Given the description of an element on the screen output the (x, y) to click on. 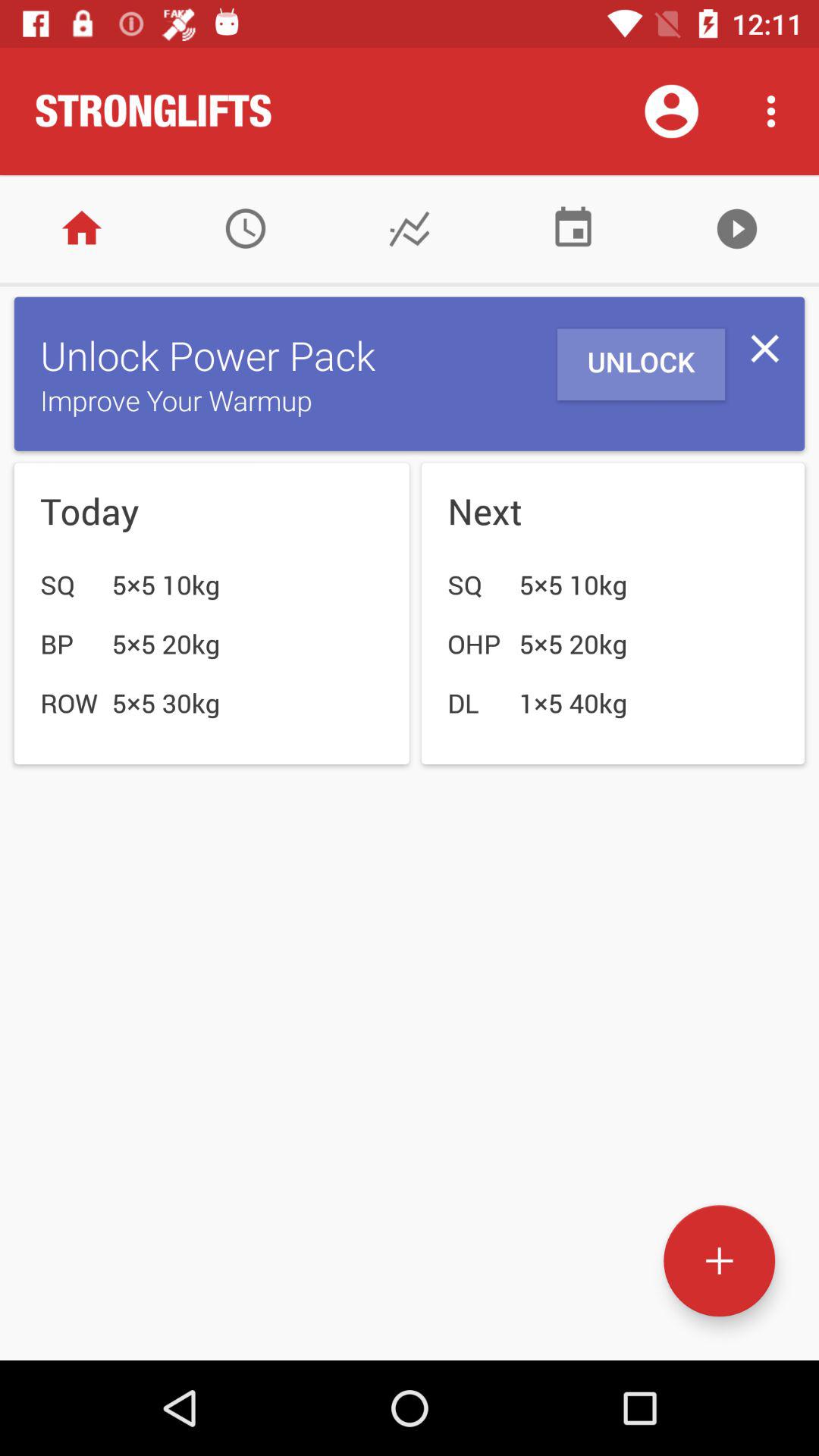
loads videos on the app (737, 228)
